Given the description of an element on the screen output the (x, y) to click on. 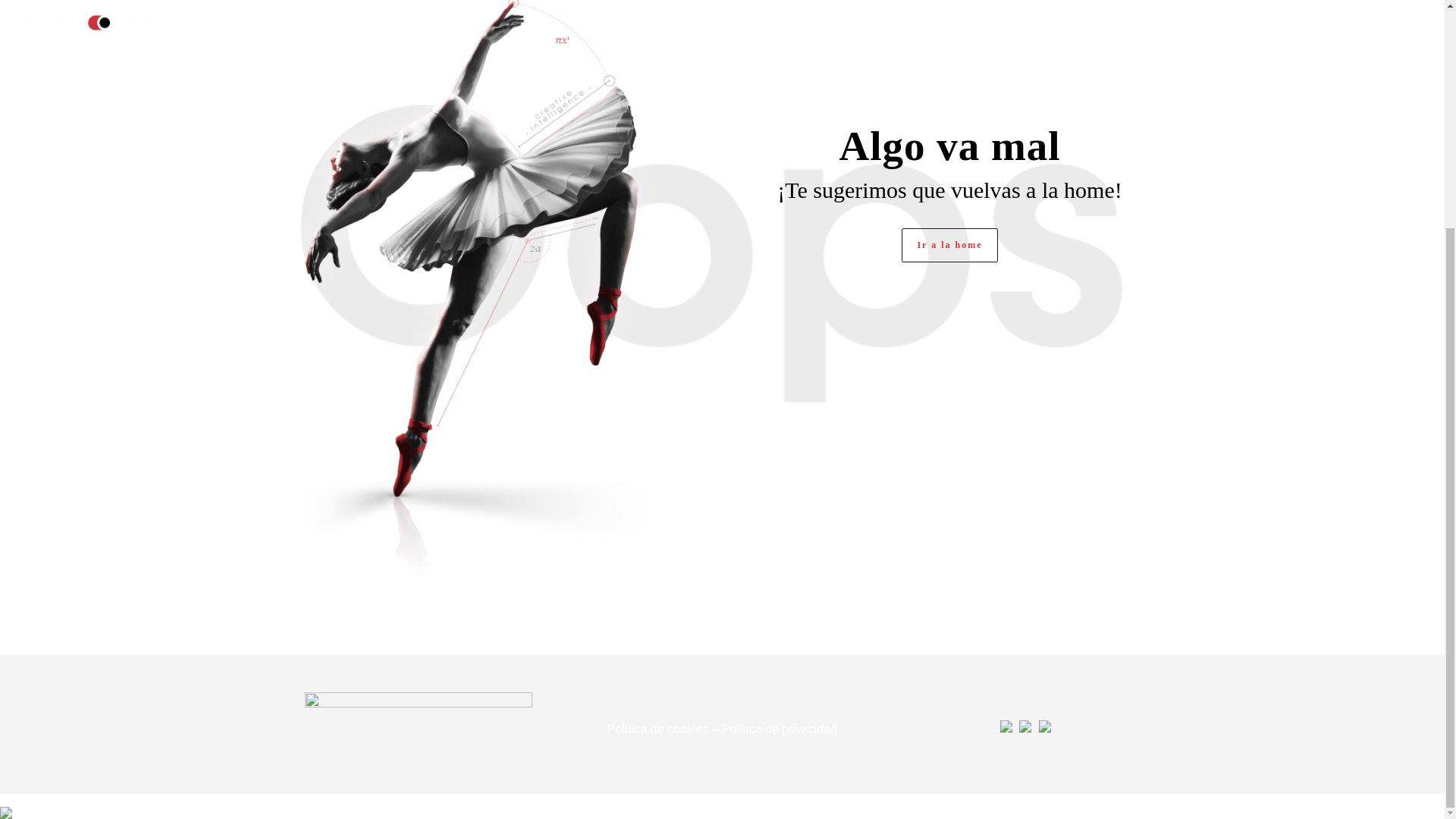
Mobile logo (5, 802)
Ir a la home (949, 245)
